Given the description of an element on the screen output the (x, y) to click on. 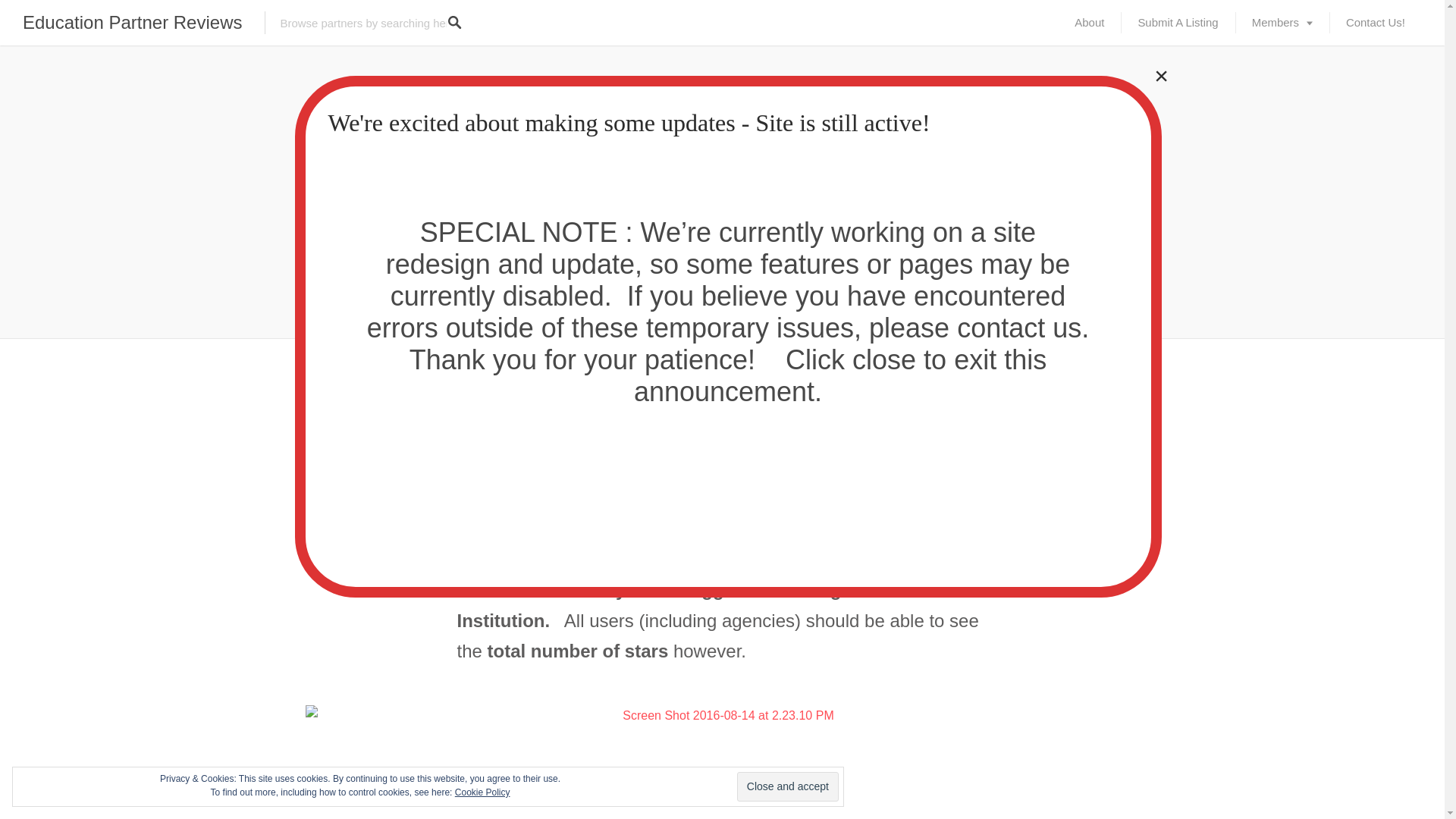
Education Partner Reviews (132, 22)
Close and accept (787, 786)
Submit A Listing (1177, 22)
August 14, 2016 (697, 105)
About (1089, 22)
Website (766, 105)
Contact Us! (1375, 22)
Members (1281, 22)
